Given the description of an element on the screen output the (x, y) to click on. 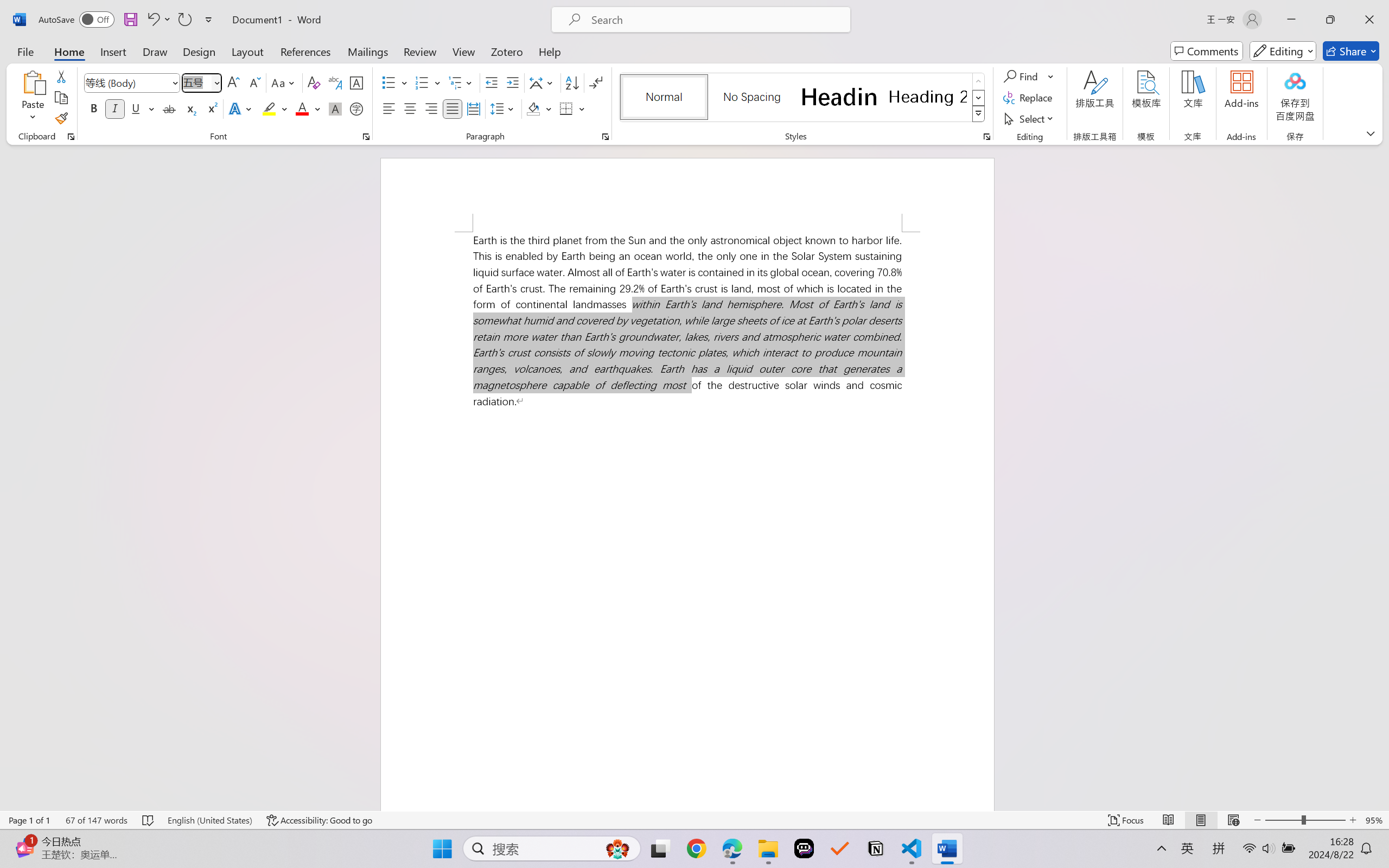
Copy (60, 97)
Center (409, 108)
Format Painter (60, 118)
Row Down (978, 97)
Text Effects and Typography (241, 108)
Replace... (1029, 97)
